Given the description of an element on the screen output the (x, y) to click on. 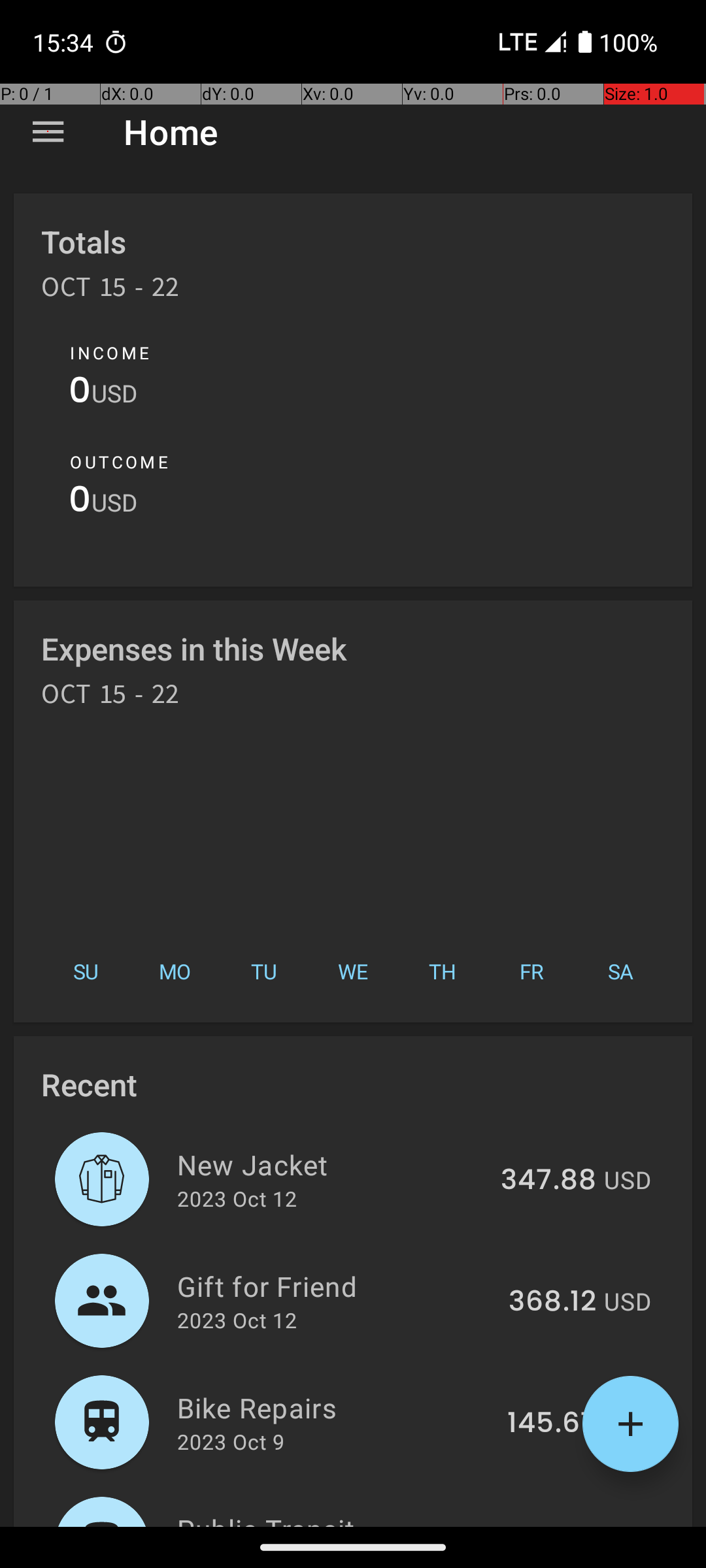
New Jacket Element type: android.widget.TextView (331, 1164)
347.88 Element type: android.widget.TextView (548, 1180)
Gift for Friend Element type: android.widget.TextView (335, 1285)
368.12 Element type: android.widget.TextView (551, 1301)
Bike Repairs Element type: android.widget.TextView (334, 1407)
145.67 Element type: android.widget.TextView (551, 1423)
Public Transit Element type: android.widget.TextView (333, 1518)
154.05 Element type: android.widget.TextView (550, 1524)
